Given the description of an element on the screen output the (x, y) to click on. 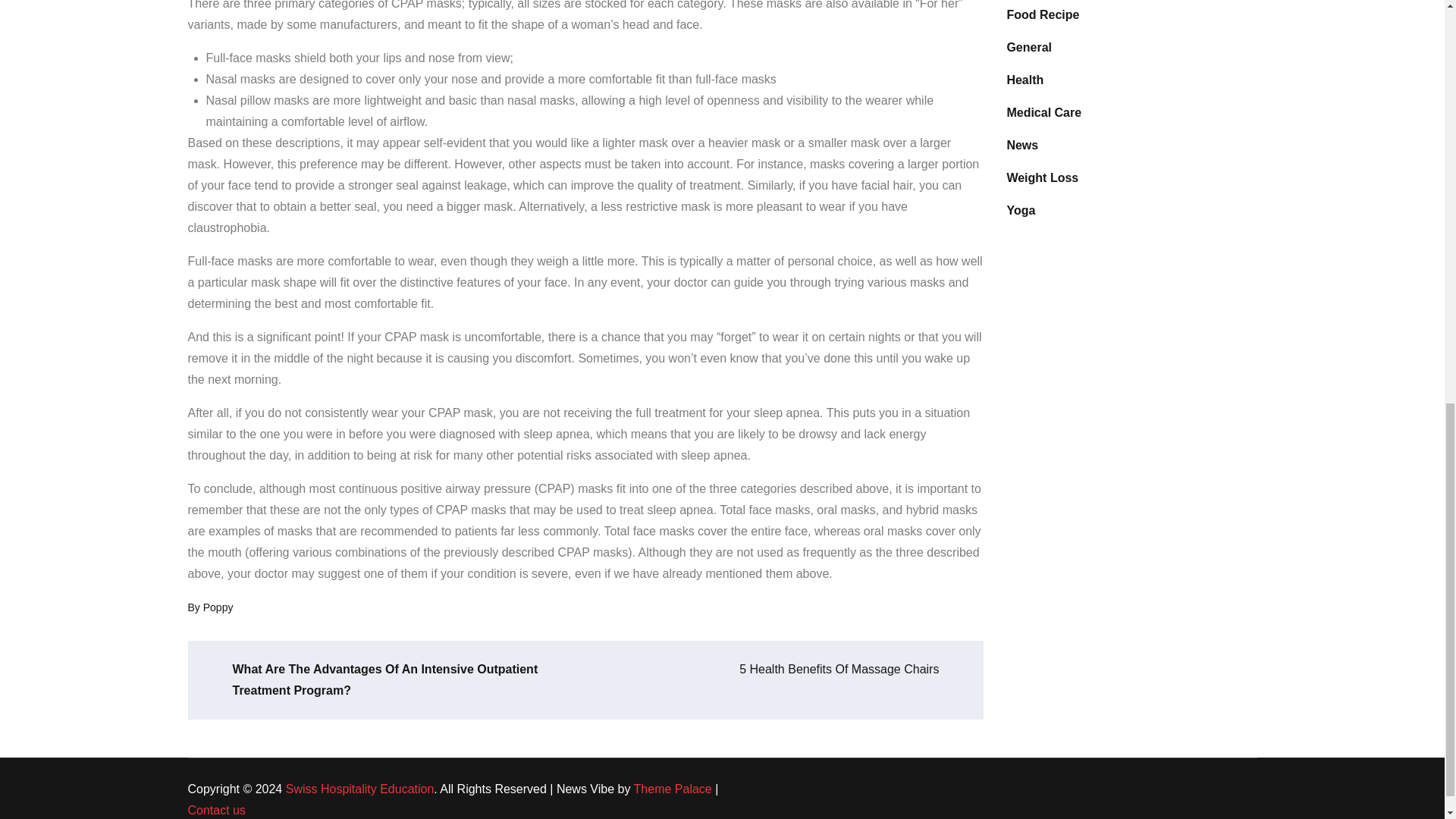
News (1022, 145)
Poppy (217, 607)
Health (1024, 79)
Food Recipe (1042, 14)
Medical Care (1043, 112)
General (1028, 47)
